Given the description of an element on the screen output the (x, y) to click on. 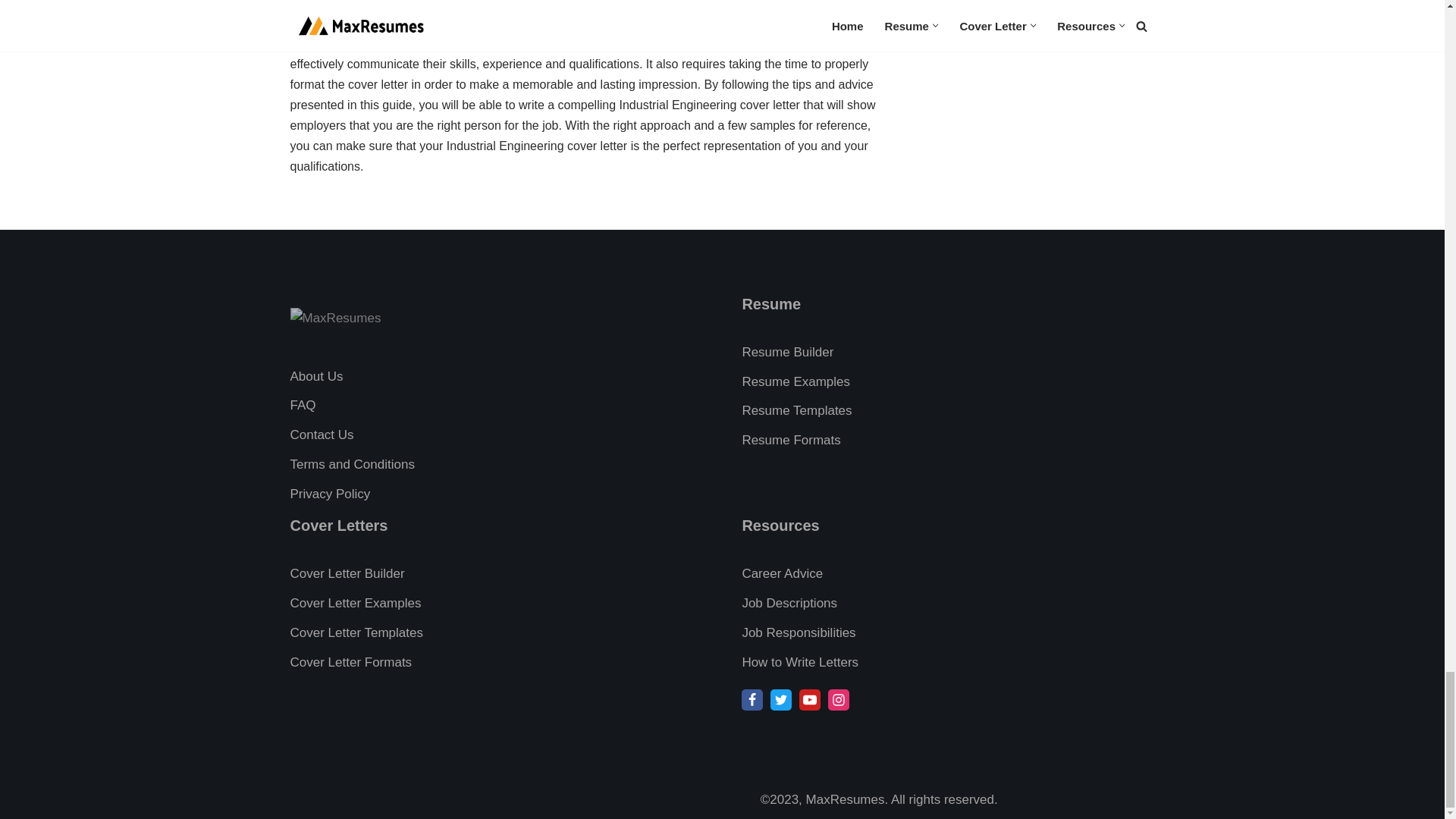
Twitter (781, 699)
Facebook (751, 699)
Instagram (838, 699)
Youtube (810, 699)
